Given the description of an element on the screen output the (x, y) to click on. 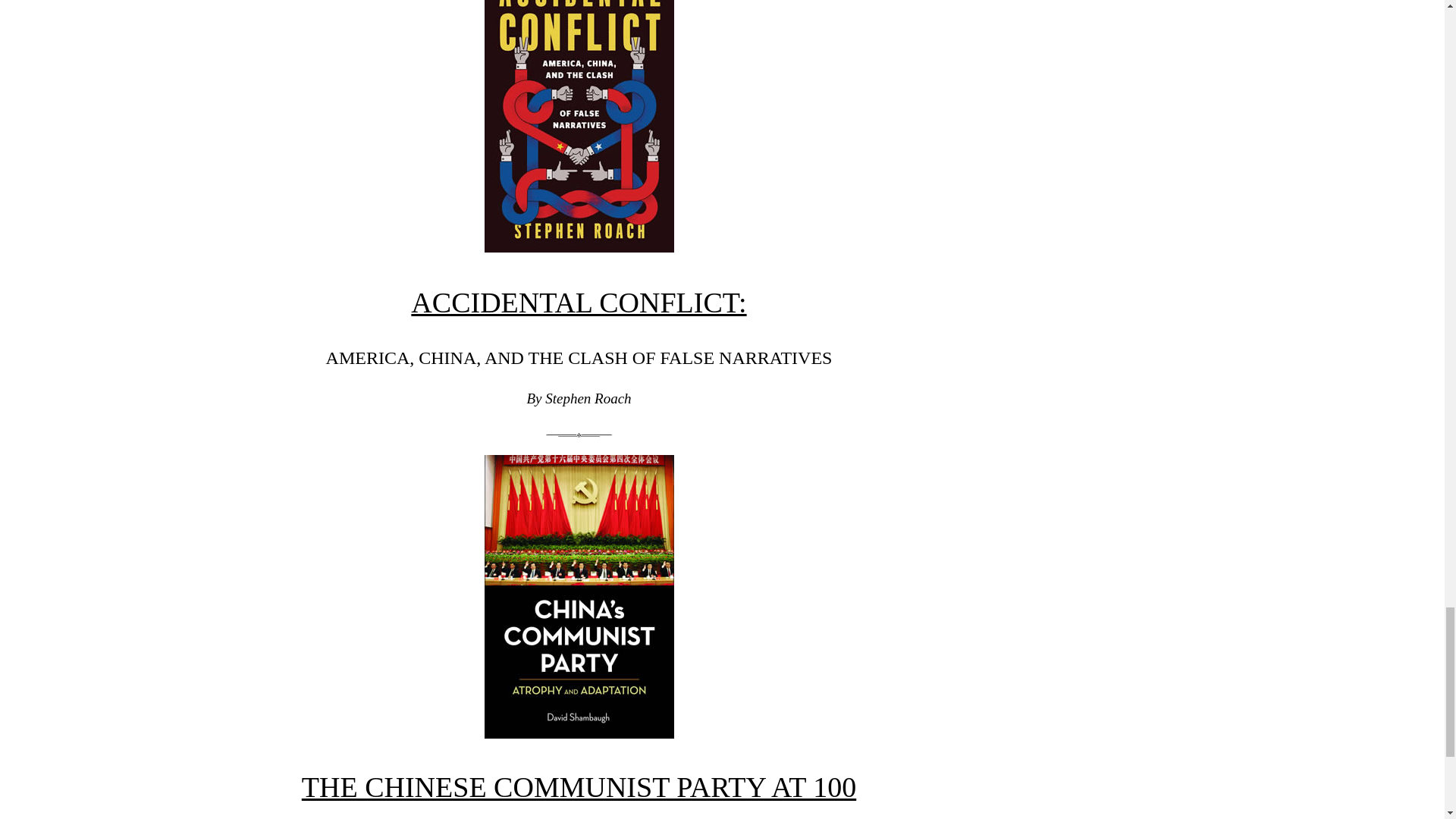
THE CHINESE COMMUNIST PARTY AT 100 (578, 787)
ACCIDENTAL CONFLICT: (577, 302)
